Given the description of an element on the screen output the (x, y) to click on. 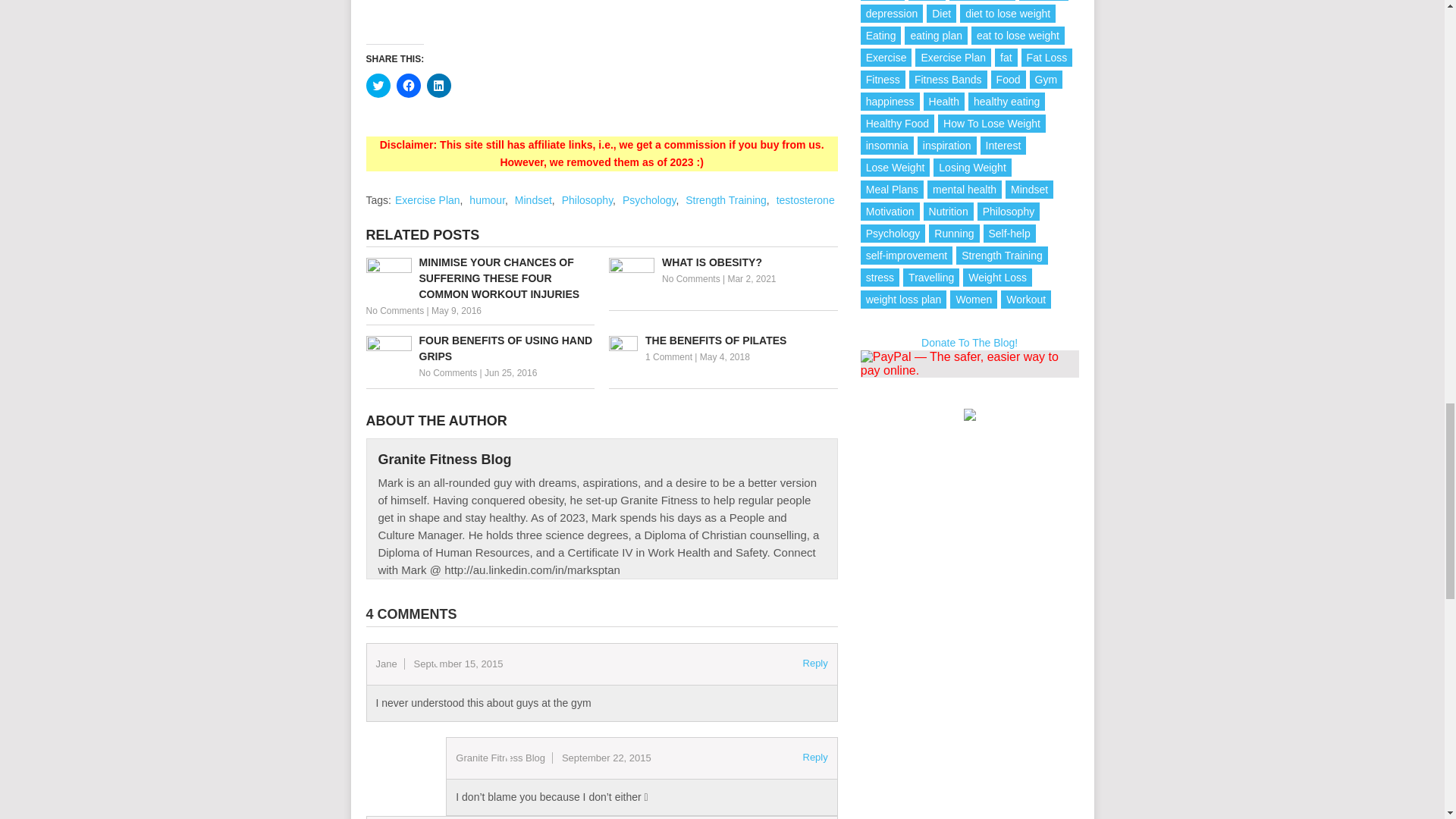
Strength Training (726, 200)
Jane (386, 663)
No Comments (448, 372)
humour (486, 200)
Click to share on LinkedIn (437, 85)
testosterone (805, 200)
WHAT IS OBESITY? (723, 262)
Click to share on Facebook (408, 85)
